Given the description of an element on the screen output the (x, y) to click on. 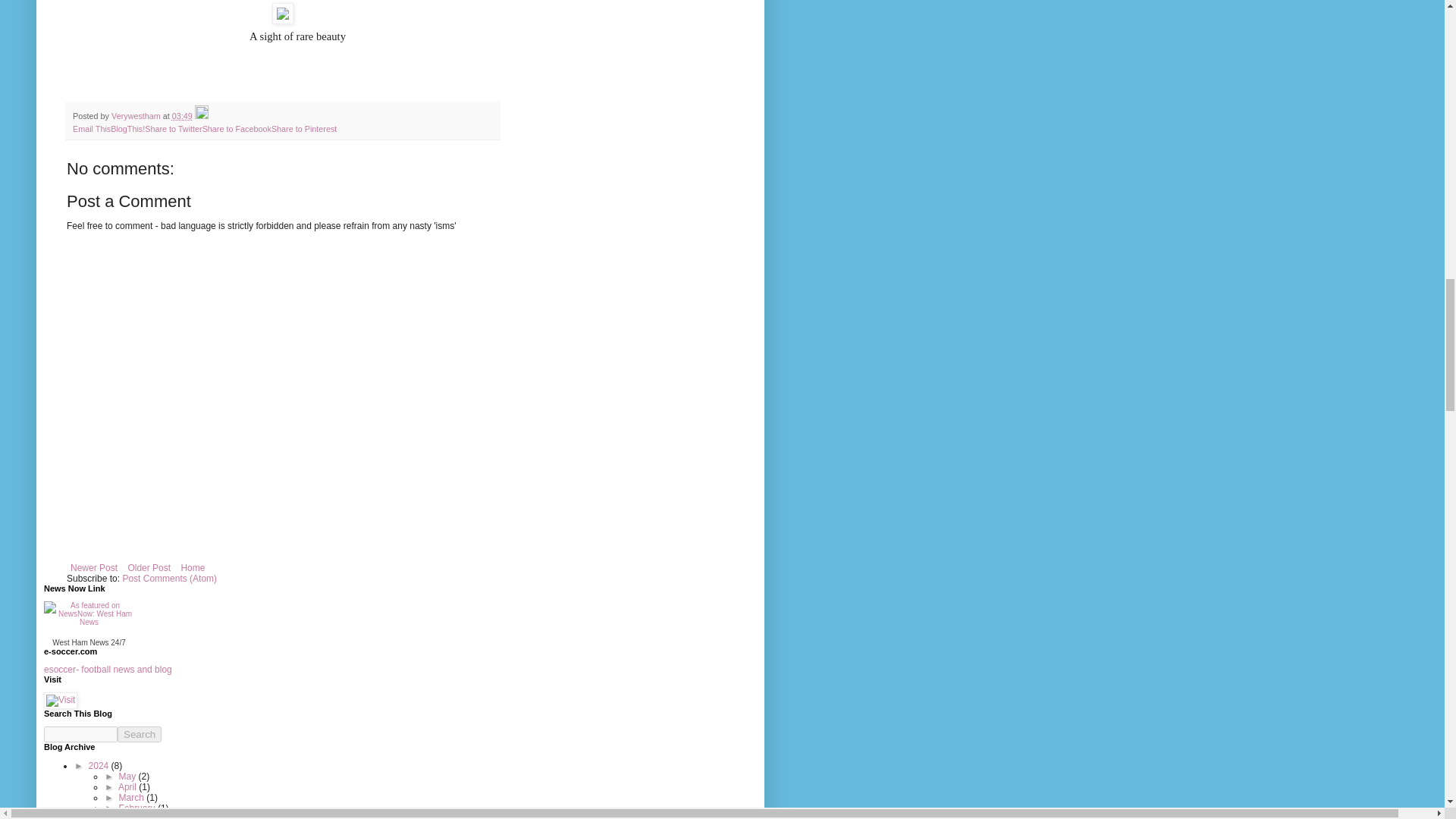
Verywestham (137, 115)
Search (139, 734)
Home (192, 567)
permanent link (181, 115)
Click here for more West Ham News from NewsNow (88, 624)
Click here for more West Ham News from NewsNow (79, 642)
Search (139, 734)
Share to Twitter (173, 128)
search (80, 734)
April (127, 787)
Newer Post (93, 567)
Email This (91, 128)
West Ham News (79, 642)
Share to Pinterest (303, 128)
Older Post (148, 567)
